Given the description of an element on the screen output the (x, y) to click on. 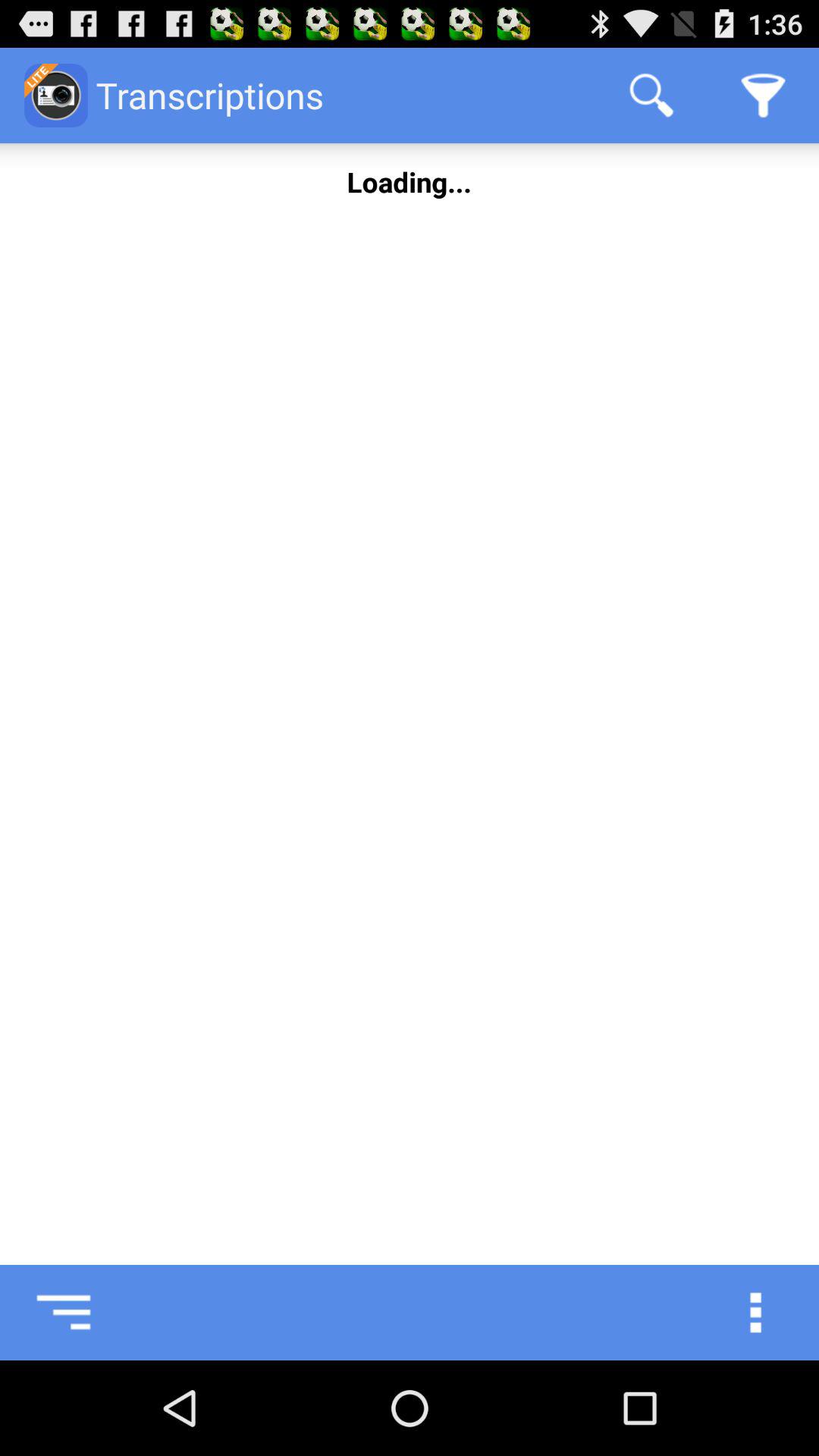
open options (771, 1312)
